Given the description of an element on the screen output the (x, y) to click on. 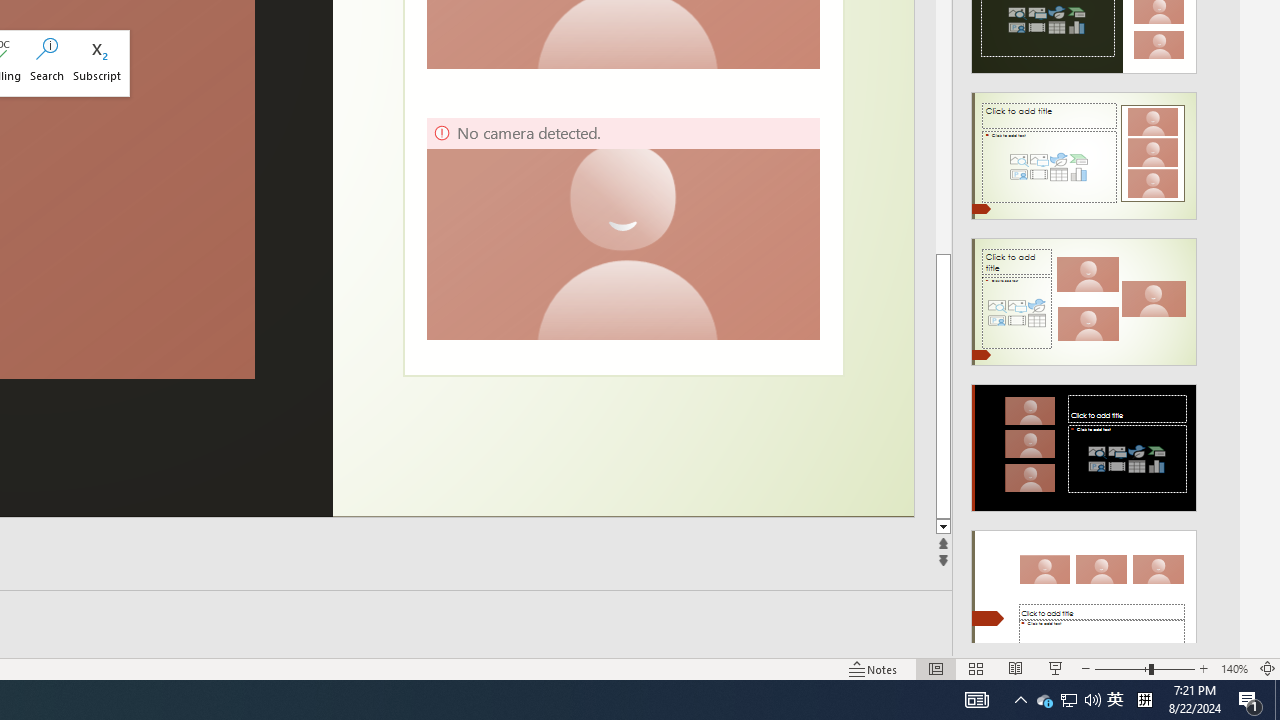
Zoom 140% (1234, 668)
Subscript (97, 62)
Camera 4, No camera detected. (622, 228)
